Given the description of an element on the screen output the (x, y) to click on. 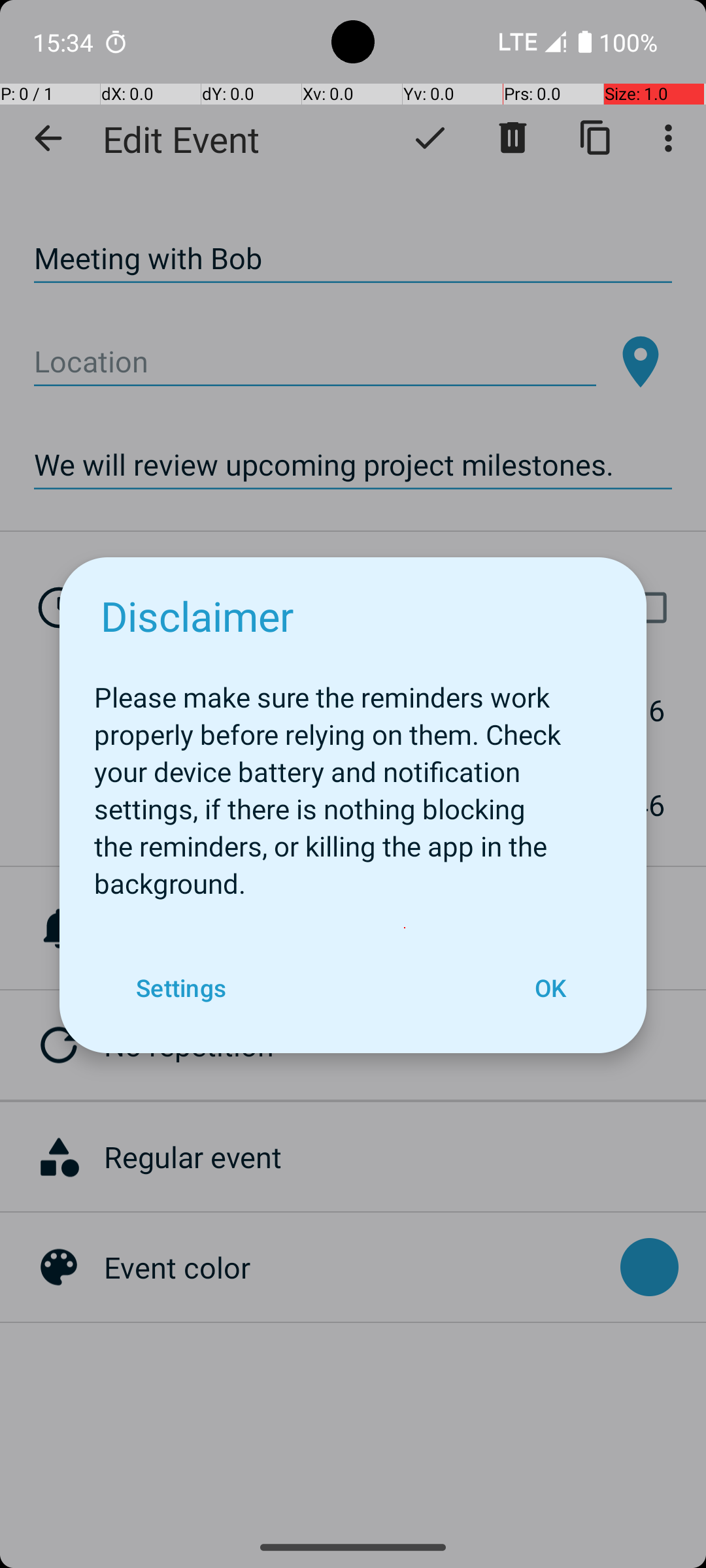
Disclaimer Element type: android.widget.TextView (196, 615)
Please make sure the reminders work properly before relying on them. Check your device battery and notification settings, if there is nothing blocking the reminders, or killing the app in the background. Element type: android.widget.TextView (352, 782)
